Given the description of an element on the screen output the (x, y) to click on. 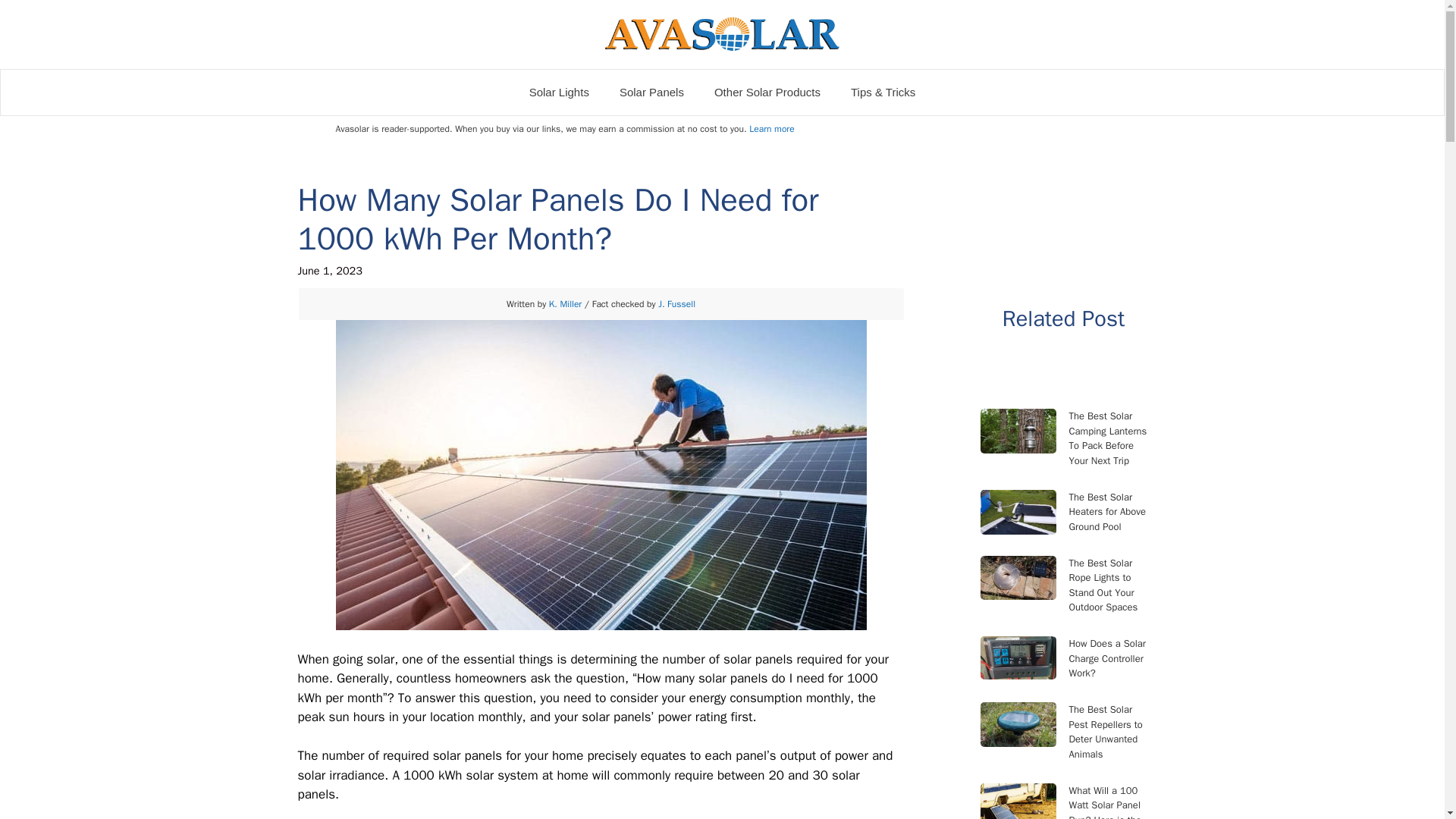
Solar Panels (651, 92)
The Best Solar Heaters for Above Ground Pool (1107, 511)
The Best Solar Pest Repellers to Deter Unwanted Animals (1107, 731)
How Does a Solar Charge Controller Work? (1107, 658)
K. Miller (564, 304)
Solar Lights (558, 92)
Learn more (771, 128)
The Best Solar Rope Lights to Stand Out Your Outdoor Spaces (1107, 585)
What Will a 100 Watt Solar Panel Run? Here is the Answer! (1107, 800)
Other Solar Products (766, 92)
J. Fussell (676, 304)
